Given the description of an element on the screen output the (x, y) to click on. 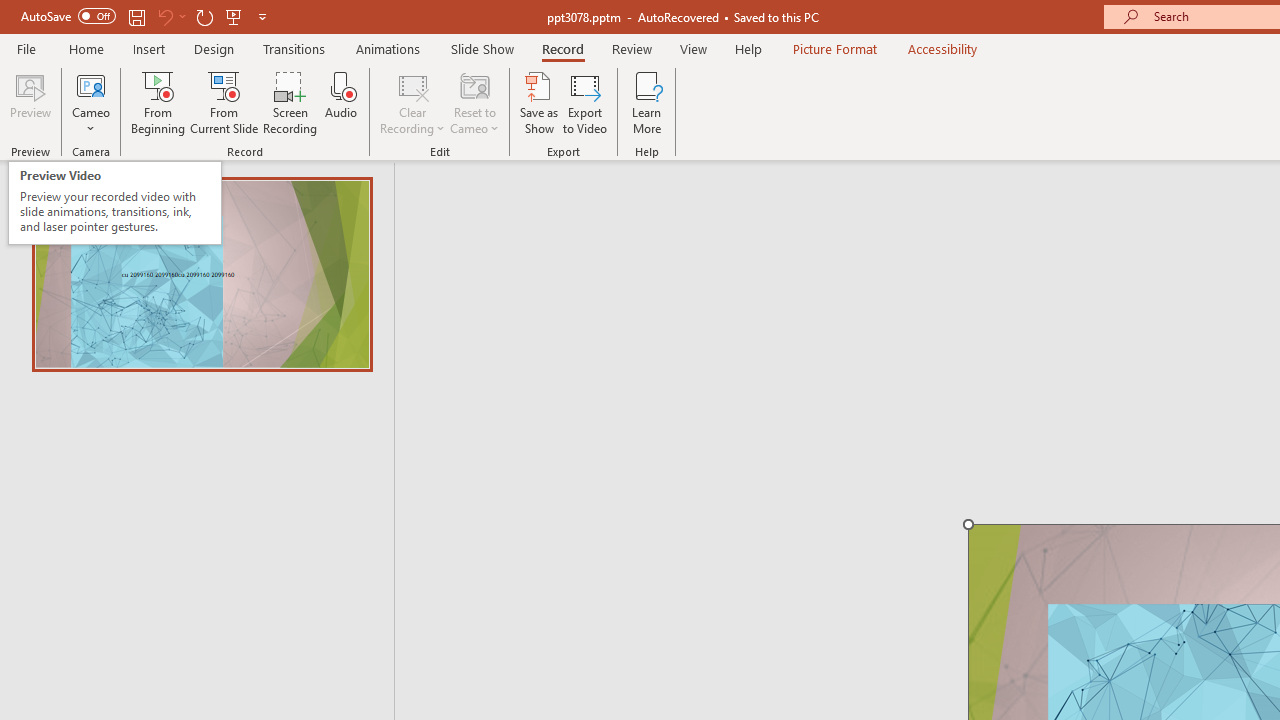
Screen Recording (290, 102)
Audio (341, 102)
